Given the description of an element on the screen output the (x, y) to click on. 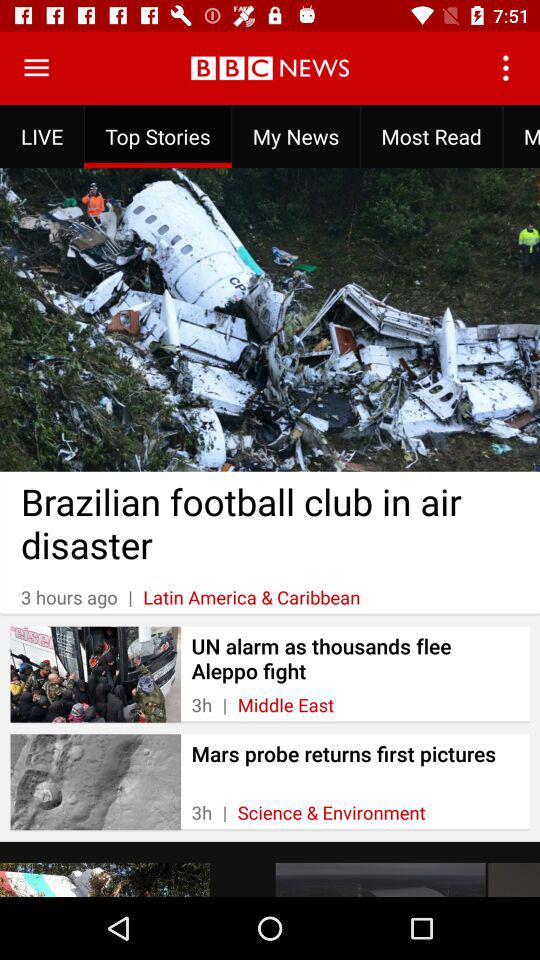
select the top stories option (158, 136)
